Given the description of an element on the screen output the (x, y) to click on. 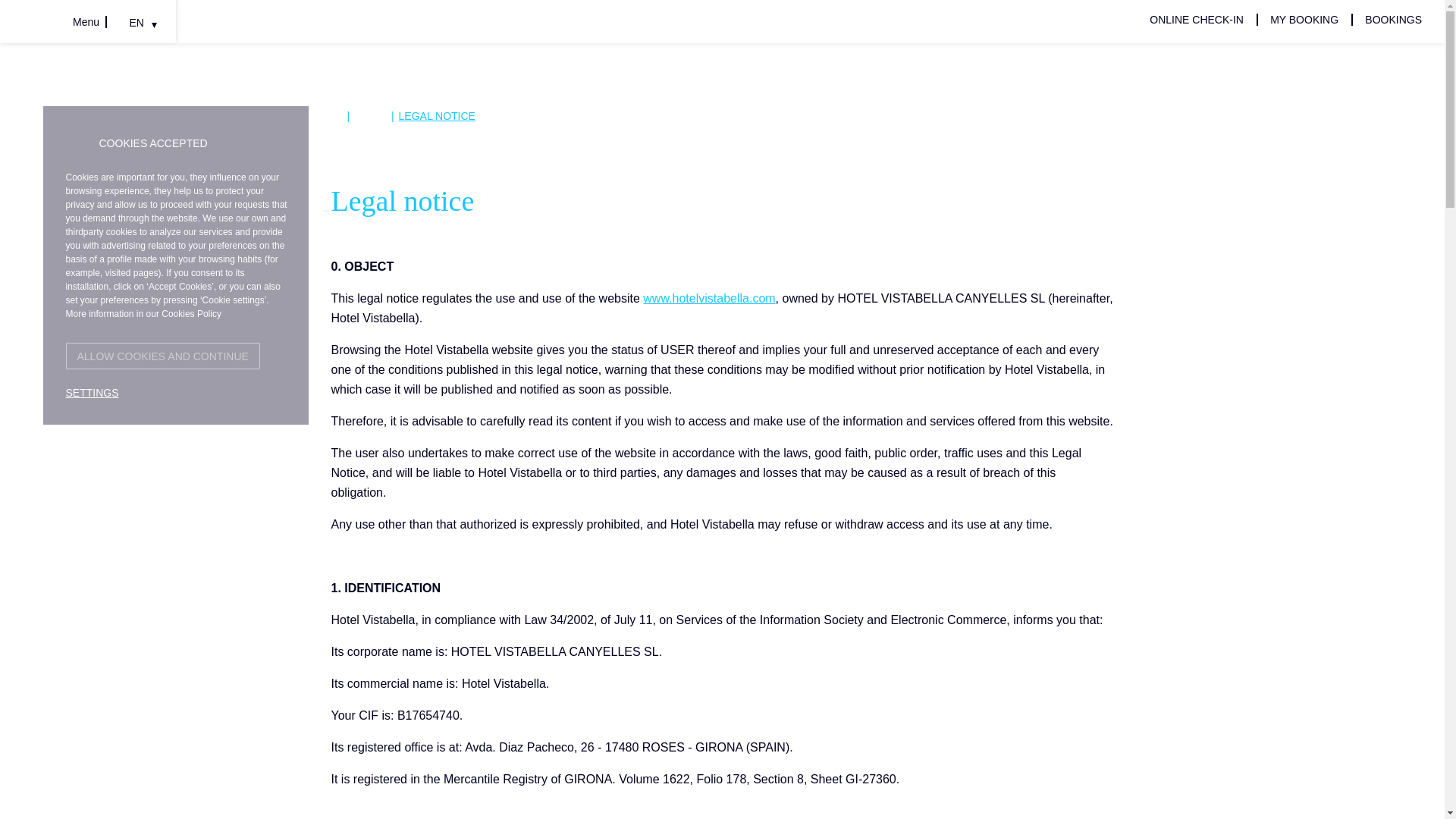
BOOKINGS (1393, 19)
ONLINE CHECK-IN (1196, 19)
Hotel Vistabella (708, 297)
MY BOOKING (1303, 19)
